Given the description of an element on the screen output the (x, y) to click on. 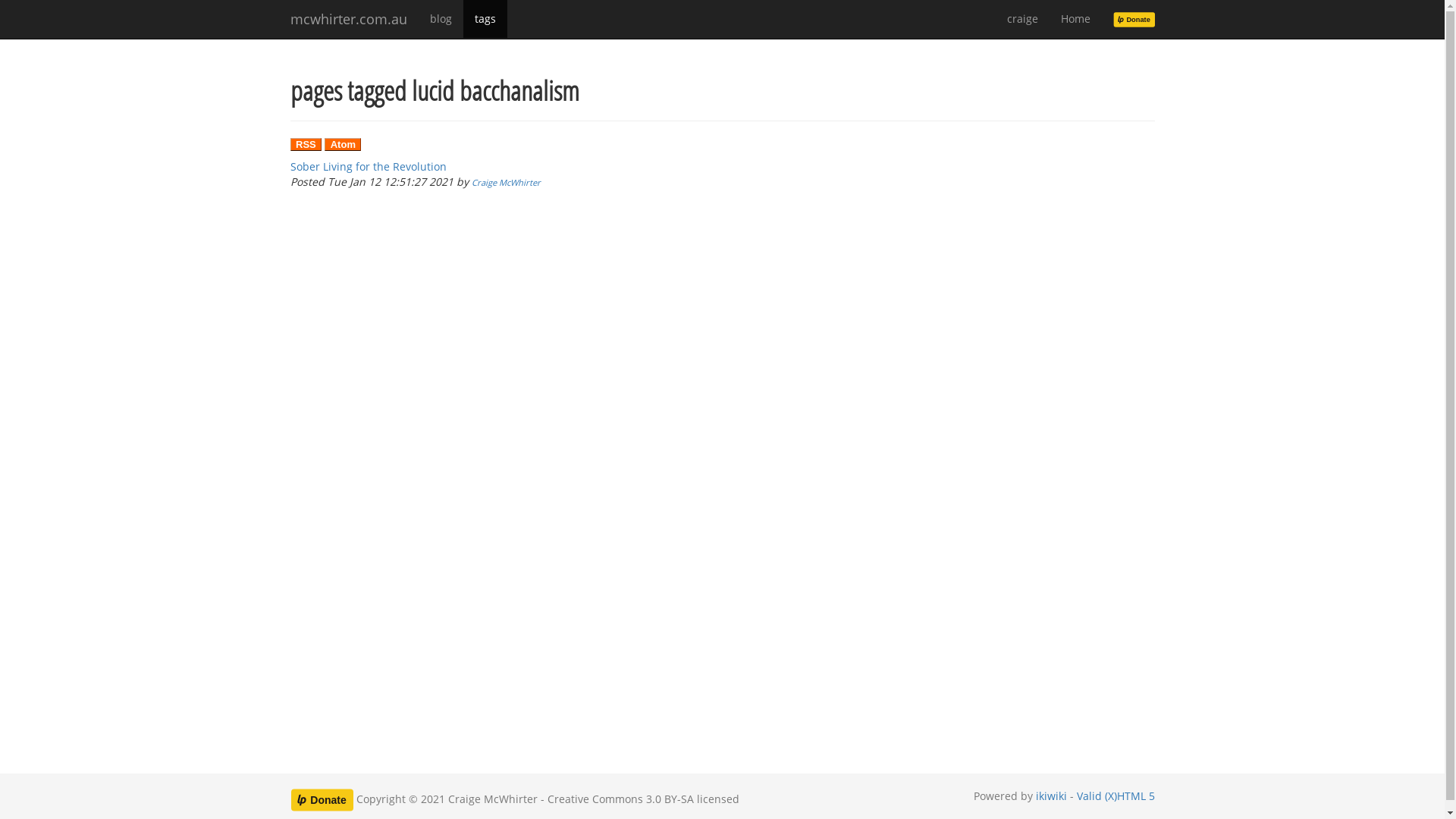
Atom Element type: text (342, 144)
mcwhirter.com.au Element type: text (348, 18)
Valid (X)HTML 5 Element type: text (1115, 795)
ikiwiki Element type: text (1050, 795)
RSS Element type: text (305, 144)
Craige McWhirter Element type: text (505, 182)
blog Element type: text (440, 18)
craige Element type: text (1021, 18)
Sober Living for the Revolution Element type: text (367, 166)
Home Element type: text (1075, 18)
tags Element type: text (484, 18)
